Given the description of an element on the screen output the (x, y) to click on. 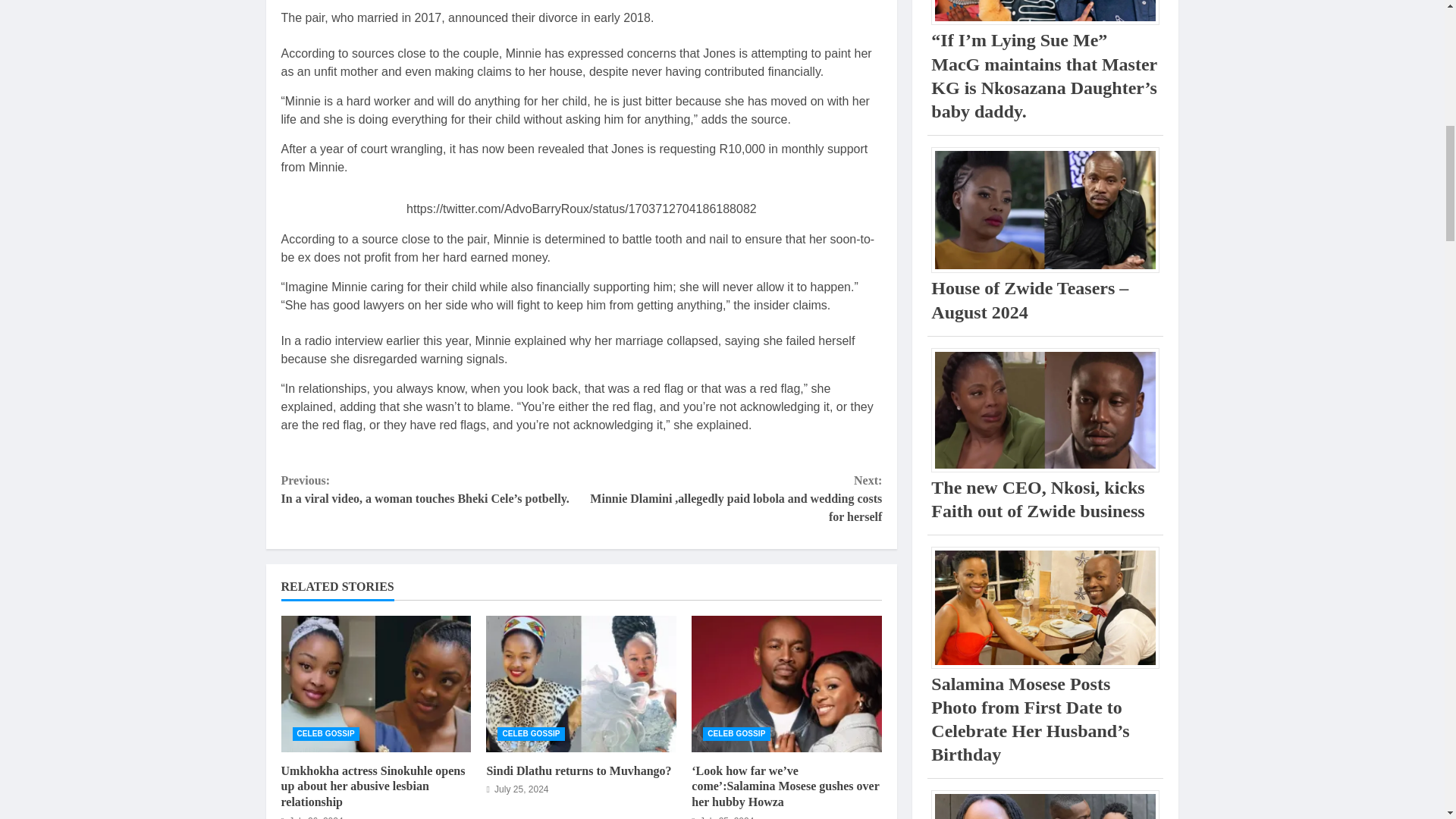
CELEB GOSSIP (325, 734)
The new CEO, Nkosi, kicks Faith out of Zwide business (1044, 410)
Sindi Dlathu returns to Muvhango? (578, 770)
CELEB GOSSIP (530, 734)
Sindi Dlathu returns to Muvhango? (581, 683)
The new CEO, Nkosi, kicks Faith out of Zwide business (1037, 498)
